Given the description of an element on the screen output the (x, y) to click on. 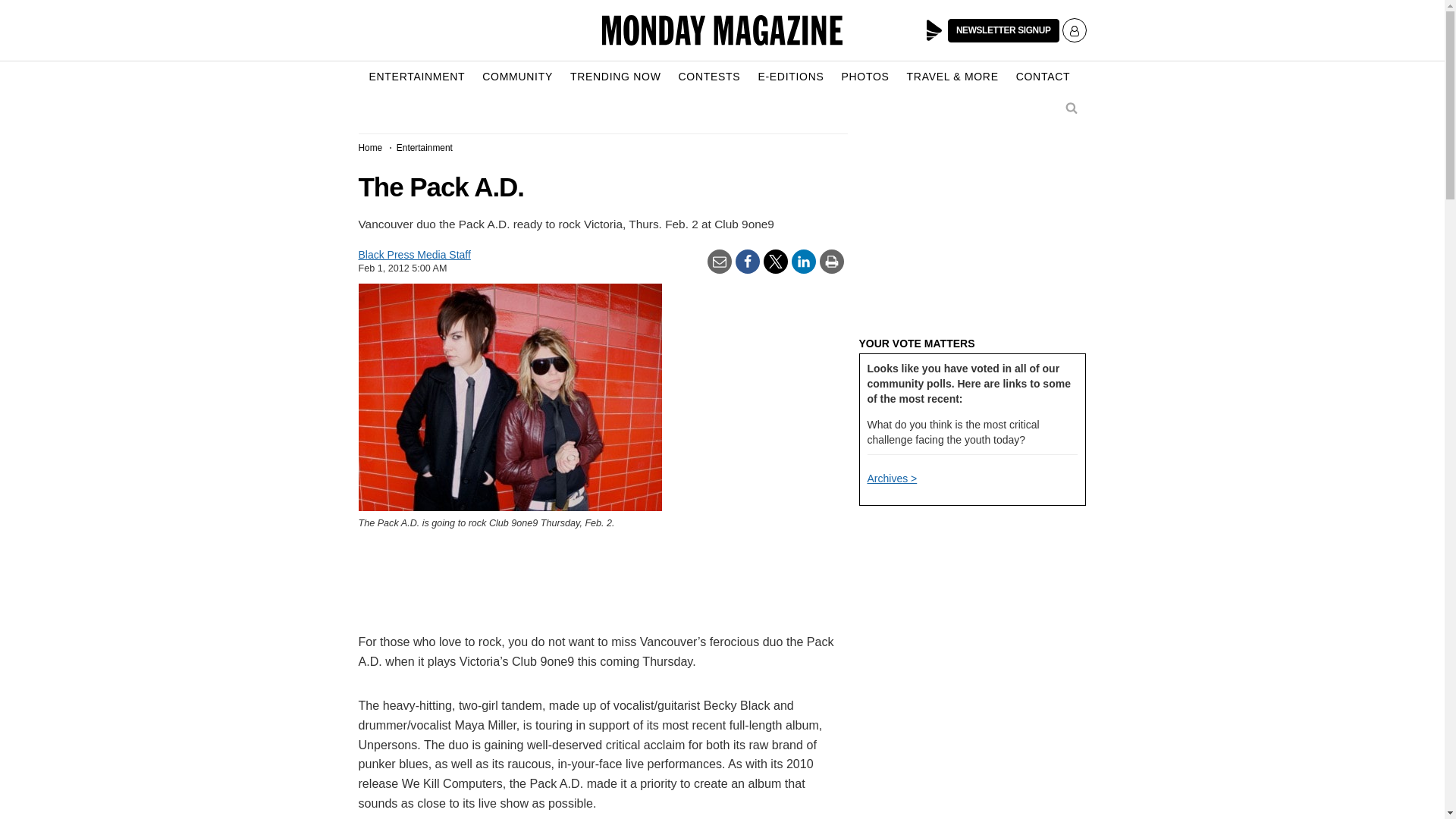
NEWSLETTER SIGNUP (1003, 29)
ENTERTAINMENT (416, 76)
CONTESTS (709, 76)
E-EDITIONS (790, 76)
PHOTOS (865, 76)
Black Press Media (933, 29)
Play (933, 29)
TRENDING NOW (615, 76)
COMMUNITY (517, 76)
